Given the description of an element on the screen output the (x, y) to click on. 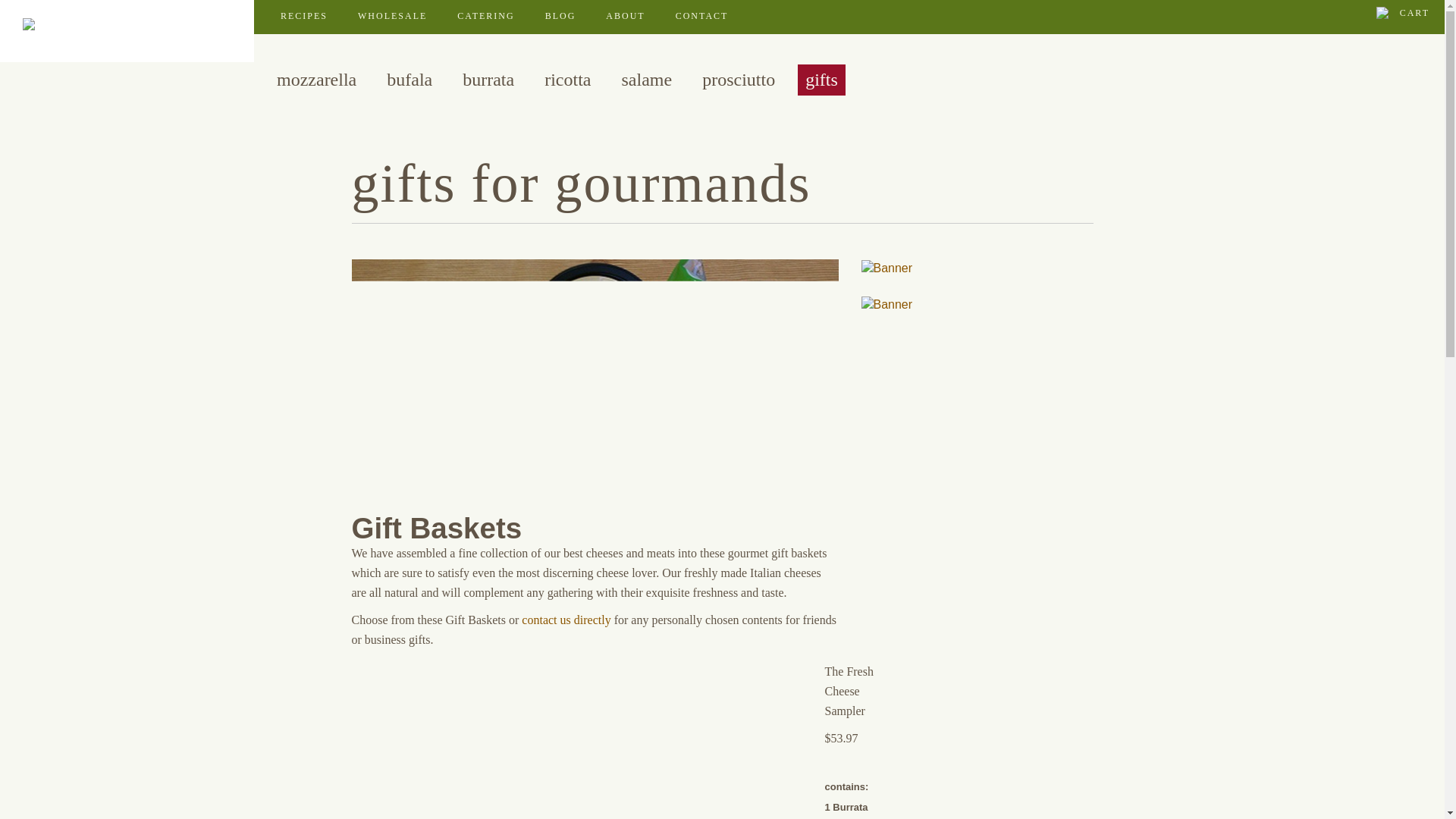
mozzarella (316, 79)
burrata (488, 79)
prosciutto (737, 79)
ricotta (567, 79)
contact us directly (566, 619)
bufala (409, 79)
BLOG (560, 15)
RECIPES (304, 15)
ABOUT (625, 15)
salame (646, 79)
